Given the description of an element on the screen output the (x, y) to click on. 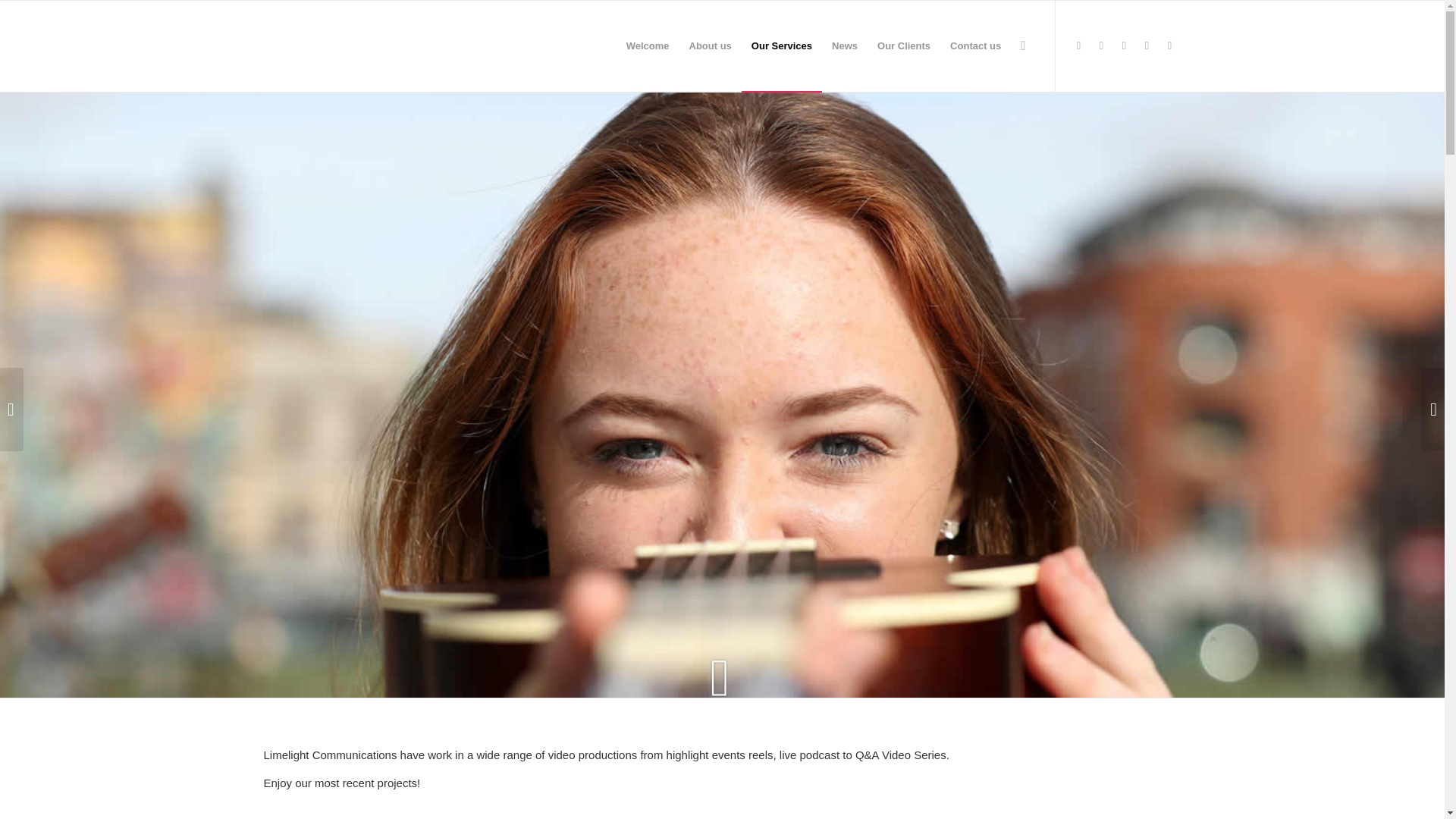
LinkedIn (1169, 45)
Twitter (1078, 45)
Instagram (1124, 45)
Youtube (1146, 45)
Facebook (1101, 45)
